Given the description of an element on the screen output the (x, y) to click on. 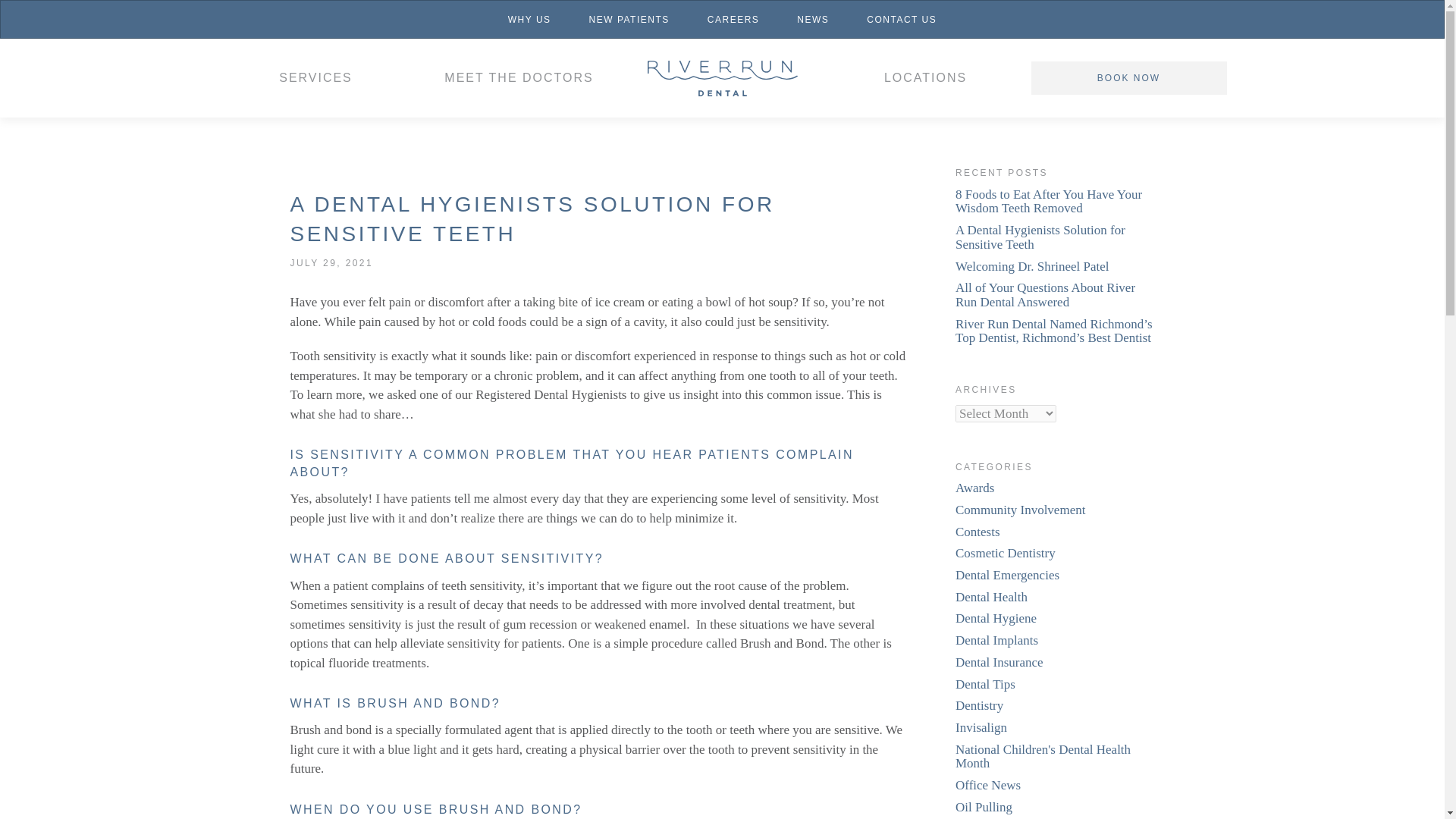
CONTACT US (901, 18)
NEWS (812, 18)
LOCATIONS (925, 77)
SERVICES (315, 77)
RIVER RUN DENTAL (722, 77)
CAREERS (733, 18)
NEW PATIENTS (629, 18)
WHY US (529, 18)
BOOK NOW (1128, 78)
MEET THE DOCTORS (519, 77)
